Given the description of an element on the screen output the (x, y) to click on. 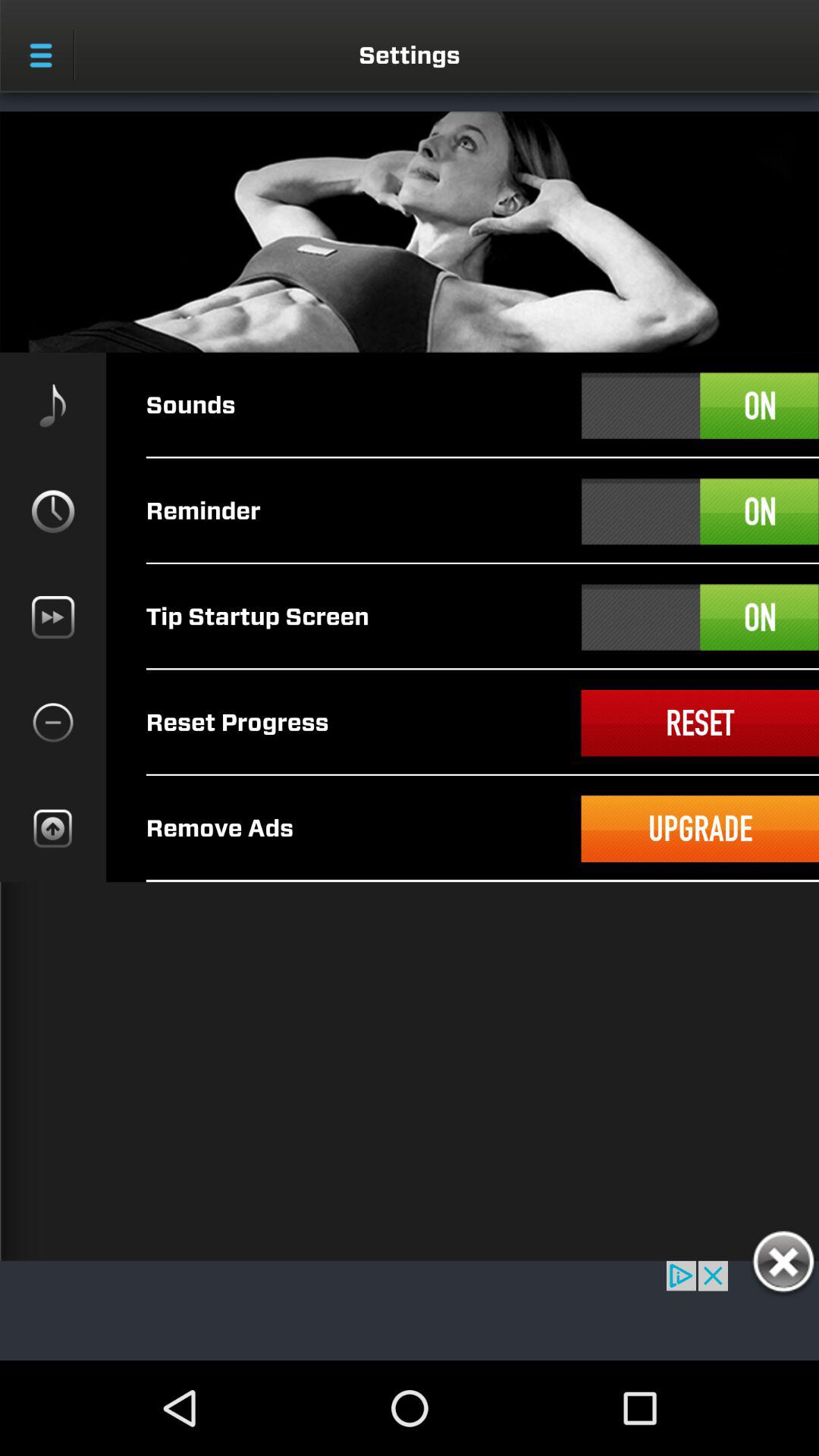
go to on button (700, 511)
